Given the description of an element on the screen output the (x, y) to click on. 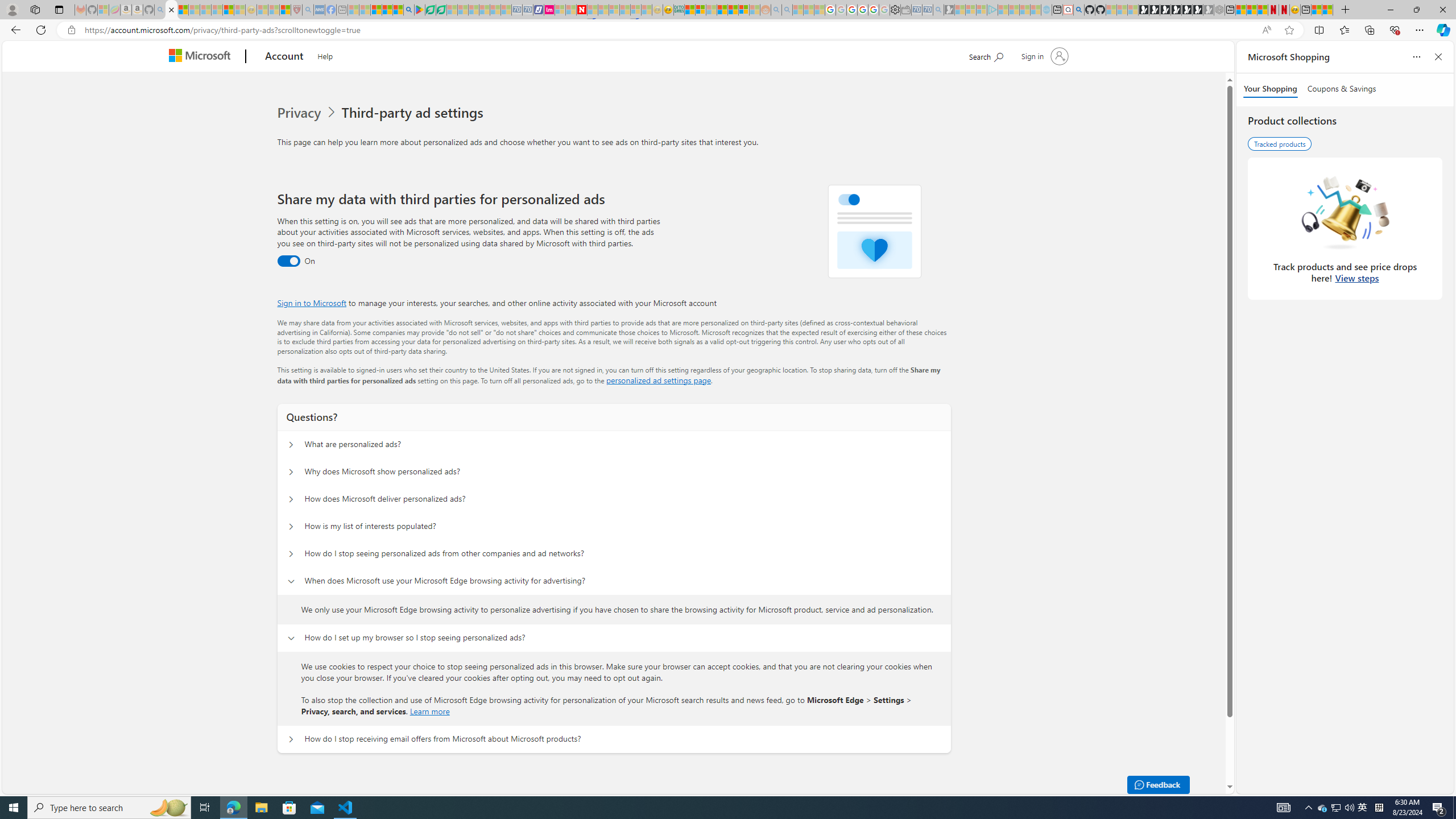
Bing Real Estate - Home sales and rental listings - Sleeping (938, 9)
Play Free Online Games | Games from Microsoft Start (1144, 9)
Latest Politics News & Archive | Newsweek.com (582, 9)
github - Search (1078, 9)
